Given the description of an element on the screen output the (x, y) to click on. 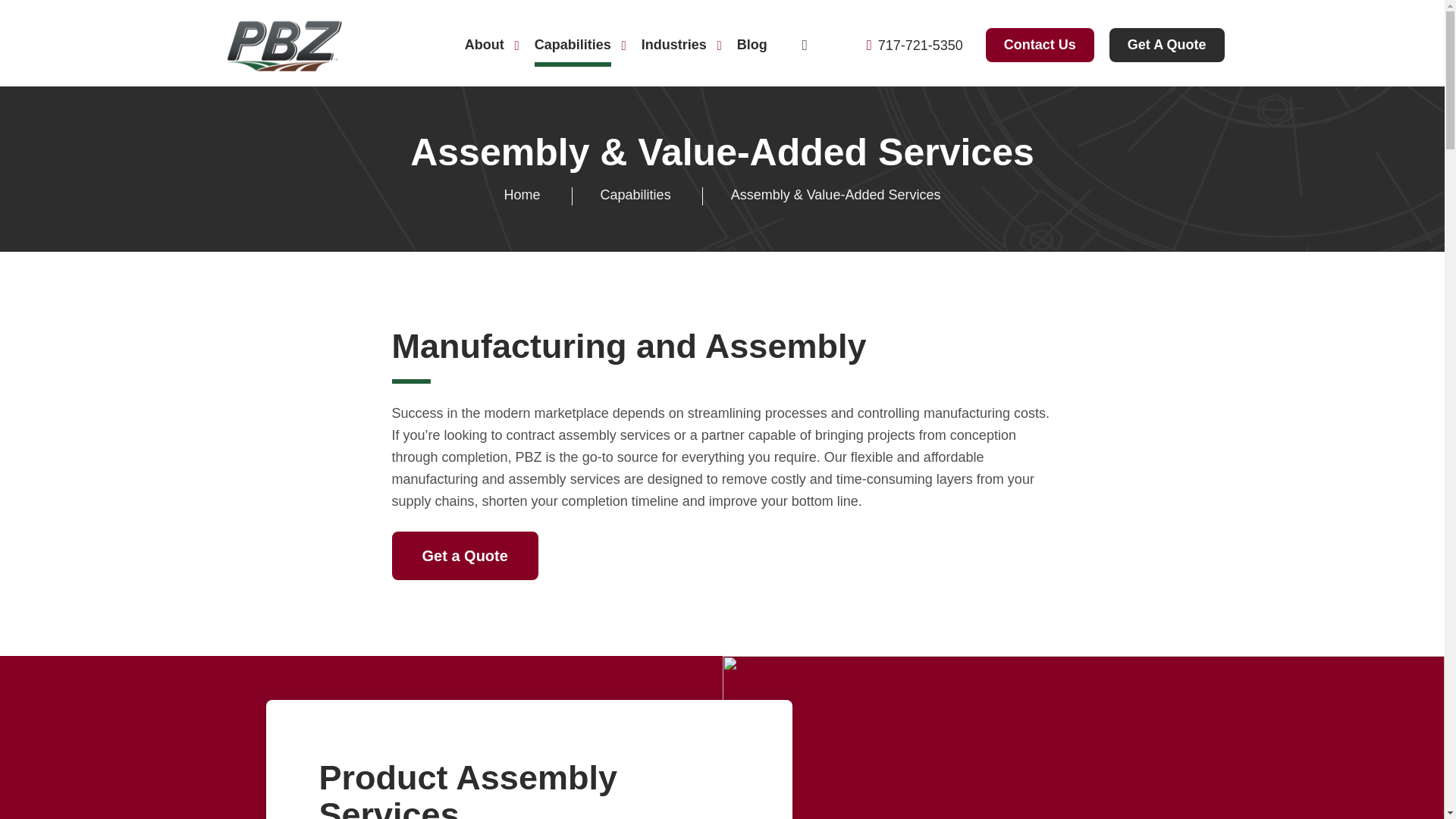
717-721-5350 (914, 44)
Capabilities (572, 44)
About (484, 44)
Industries (615, 44)
